Given the description of an element on the screen output the (x, y) to click on. 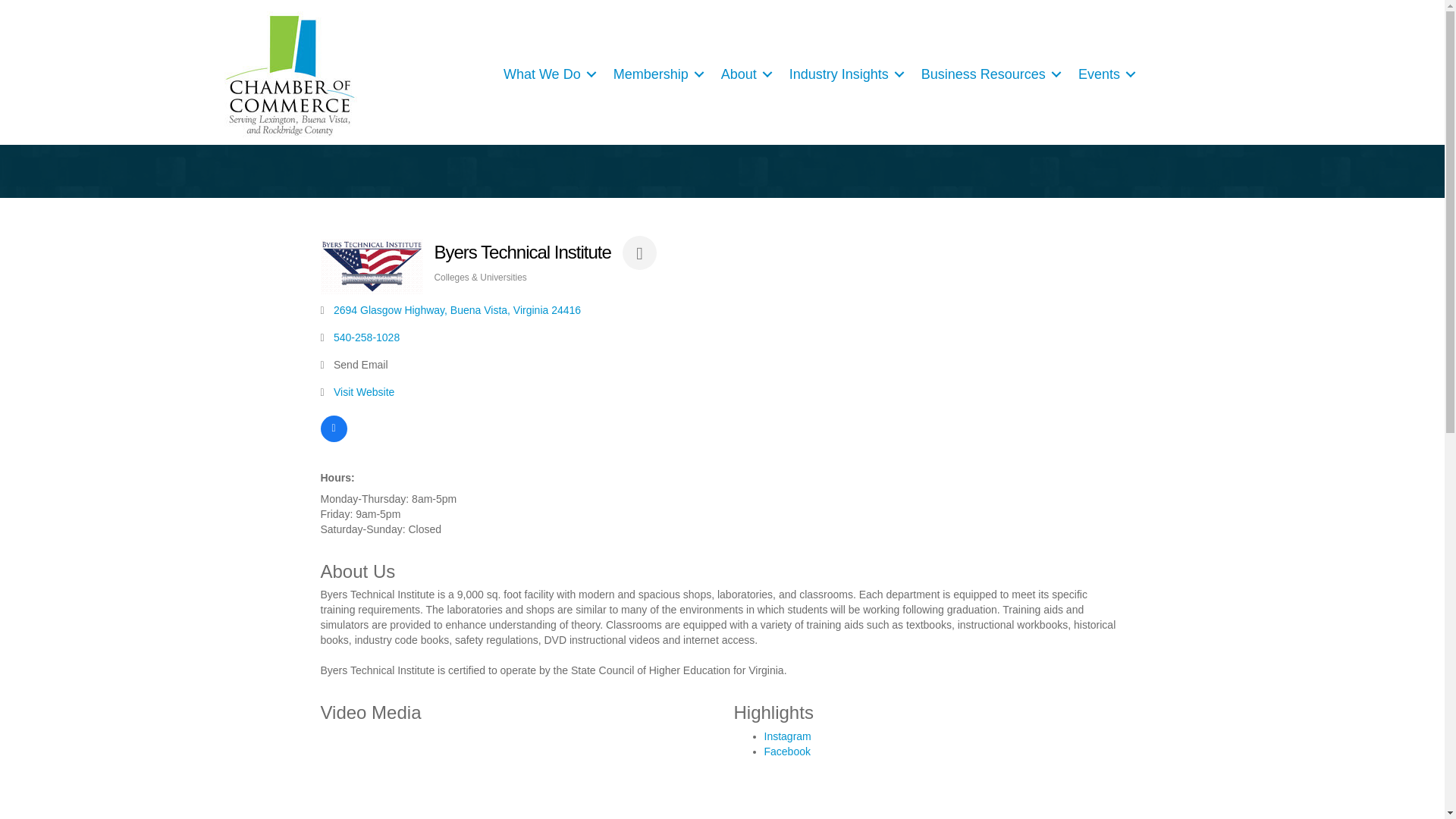
What We Do (547, 73)
About (743, 73)
2694 Glasgow Highway Buena Vista Virginia 24416 (456, 309)
ChamberLogo (290, 74)
View on Facebook (333, 438)
Events (1104, 73)
Byers Technical Institute (371, 266)
Industry Insights (844, 73)
540-258-1028 (365, 337)
Business Resources (989, 73)
Membership (656, 73)
